Given the description of an element on the screen output the (x, y) to click on. 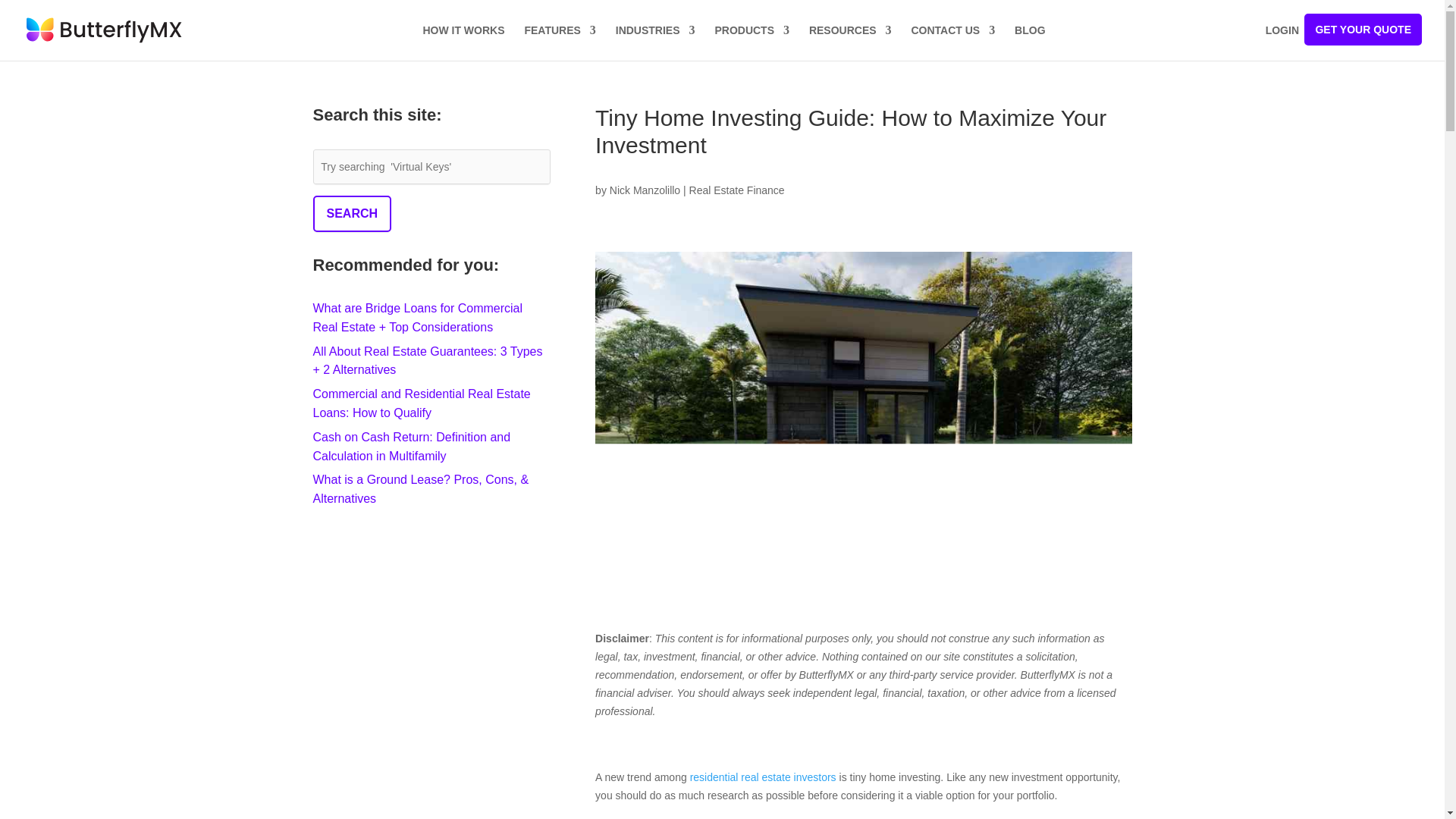
Posts by Nick Manzolillo (644, 190)
HOW IT WORKS (462, 42)
RESOURCES (850, 42)
Search (352, 213)
FEATURES (559, 42)
INDUSTRIES (655, 42)
PRODUCTS (751, 42)
